Given the description of an element on the screen output the (x, y) to click on. 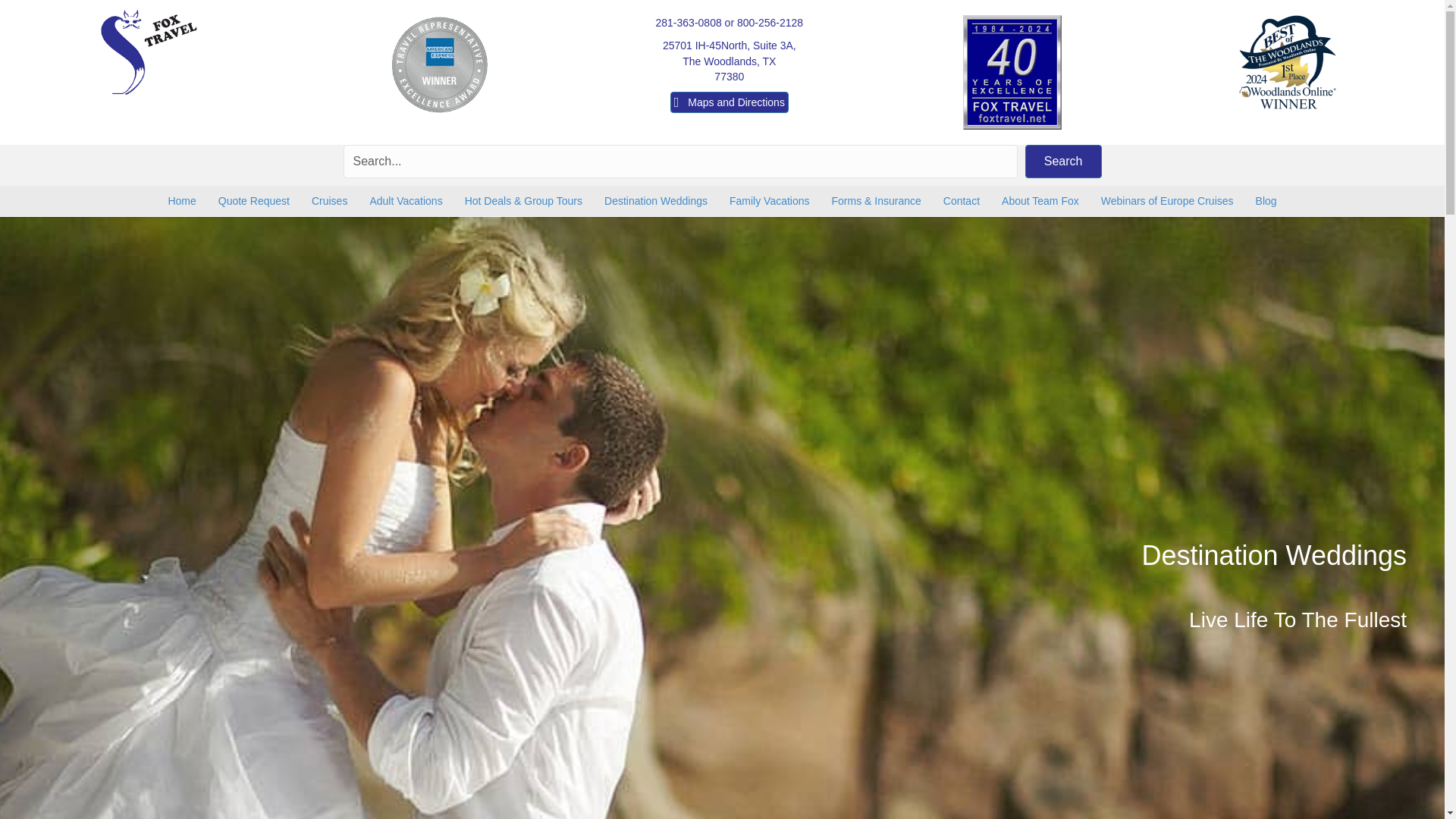
Fox logo square (148, 51)
Quote Request (253, 200)
Maps and Directions (729, 102)
Adult Vacations (729, 60)
Cruises (405, 200)
Search (329, 200)
Home (1063, 161)
